Given the description of an element on the screen output the (x, y) to click on. 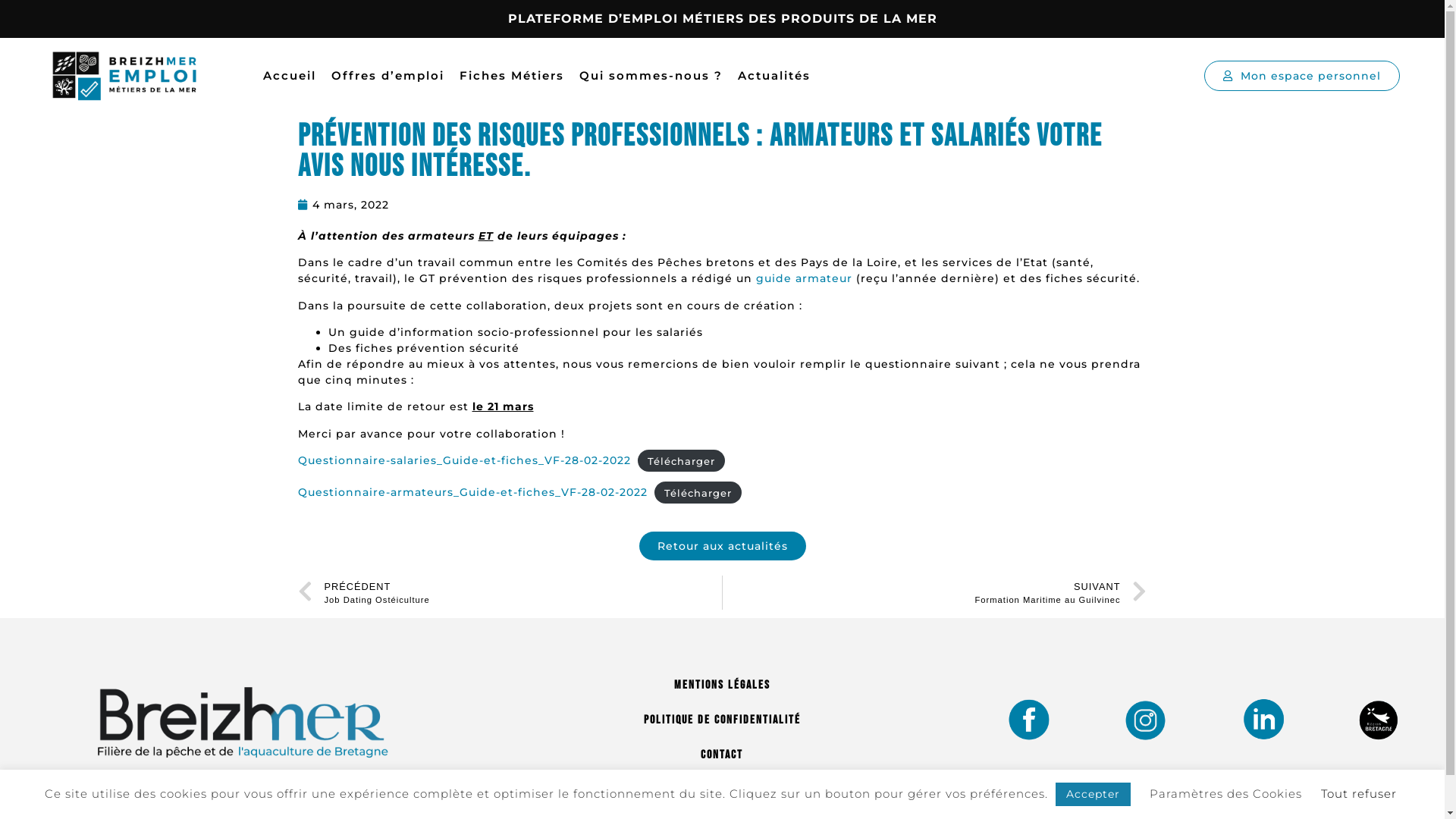
Tout refuser Element type: text (1358, 793)
Questionnaire-armateurs_Guide-et-fiches_VF-28-02-2022 Element type: text (471, 491)
Qui sommes-nous ? Element type: text (650, 75)
SUIVANT
Formation Maritime au Guilvinec Element type: text (934, 592)
Accueil Element type: text (289, 75)
Contact Element type: text (722, 754)
Questionnaire-salaries_Guide-et-fiches_VF-28-02-2022 Element type: text (463, 460)
Accepter Element type: text (1092, 794)
guide armateur Element type: text (802, 278)
Mon espace personnel Element type: text (1301, 75)
